Given the description of an element on the screen output the (x, y) to click on. 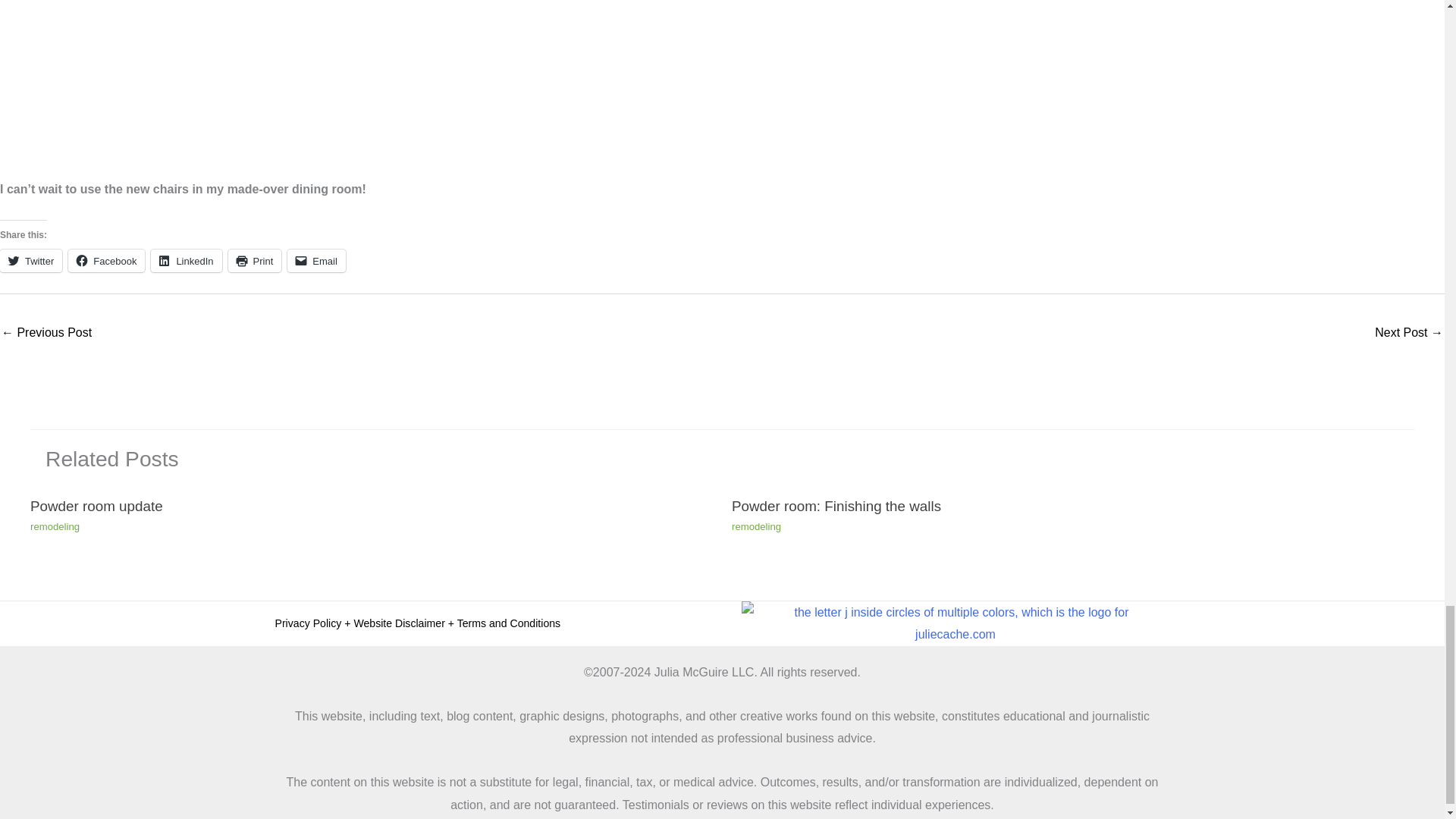
Twitter (31, 260)
remodeling (55, 526)
Print (255, 260)
Click to share on LinkedIn (186, 260)
Click to share on Facebook (106, 260)
Powder room update (96, 505)
LinkedIn (186, 260)
remodeling (756, 526)
Click to print (255, 260)
Click to share on Twitter (31, 260)
The bee tree (1408, 334)
Powder room: Finishing the walls (836, 505)
Email (316, 260)
Facebook (106, 260)
Powder room niche, closer to finished (46, 334)
